Given the description of an element on the screen output the (x, y) to click on. 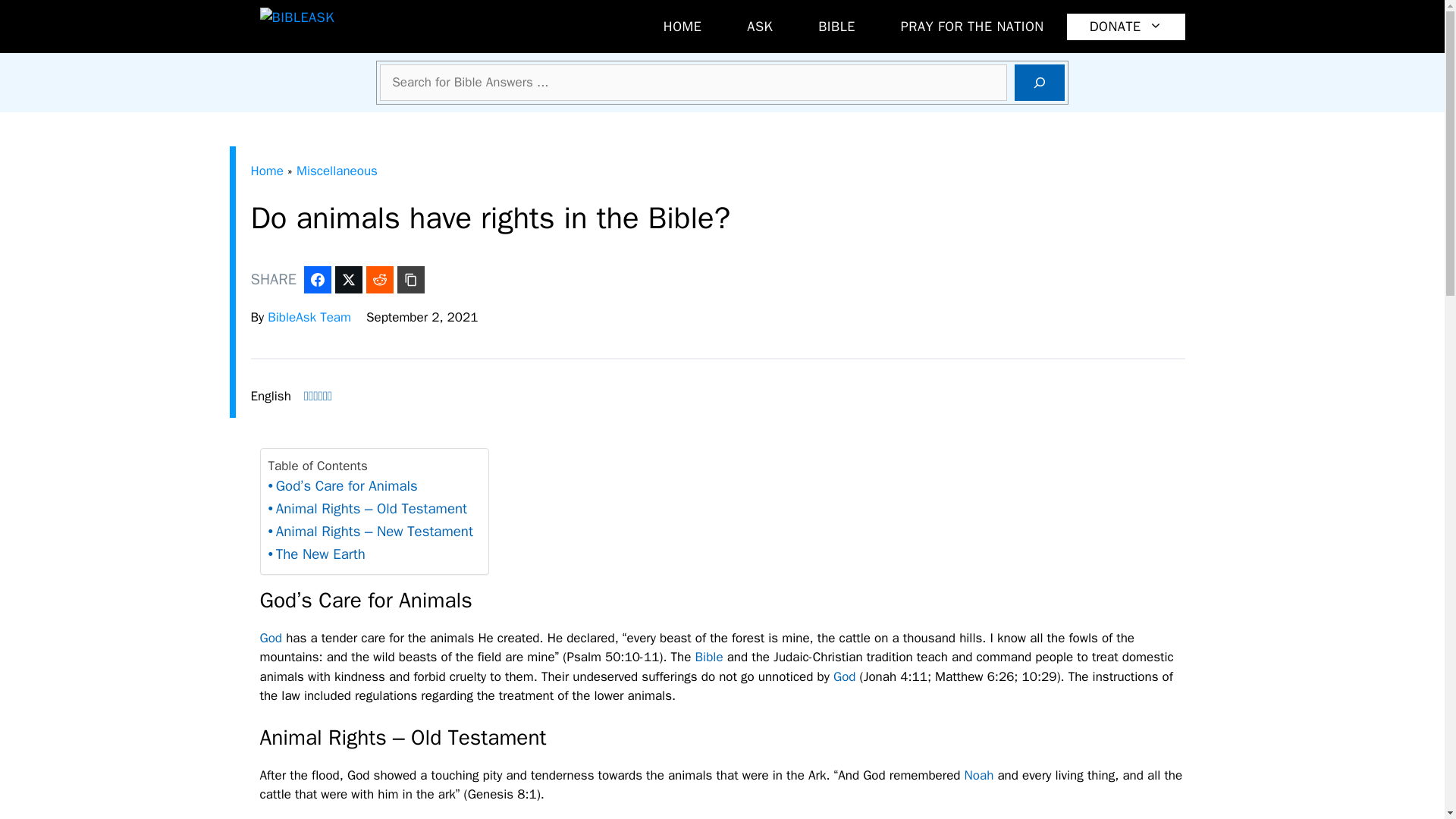
BibleAsk (353, 26)
BIBLE (835, 26)
PRAY FOR THE NATION (972, 26)
Home (266, 170)
Bible (709, 657)
Noah (978, 774)
Bible (709, 657)
The New Earth (316, 554)
ASK (758, 26)
God (270, 637)
